Given the description of an element on the screen output the (x, y) to click on. 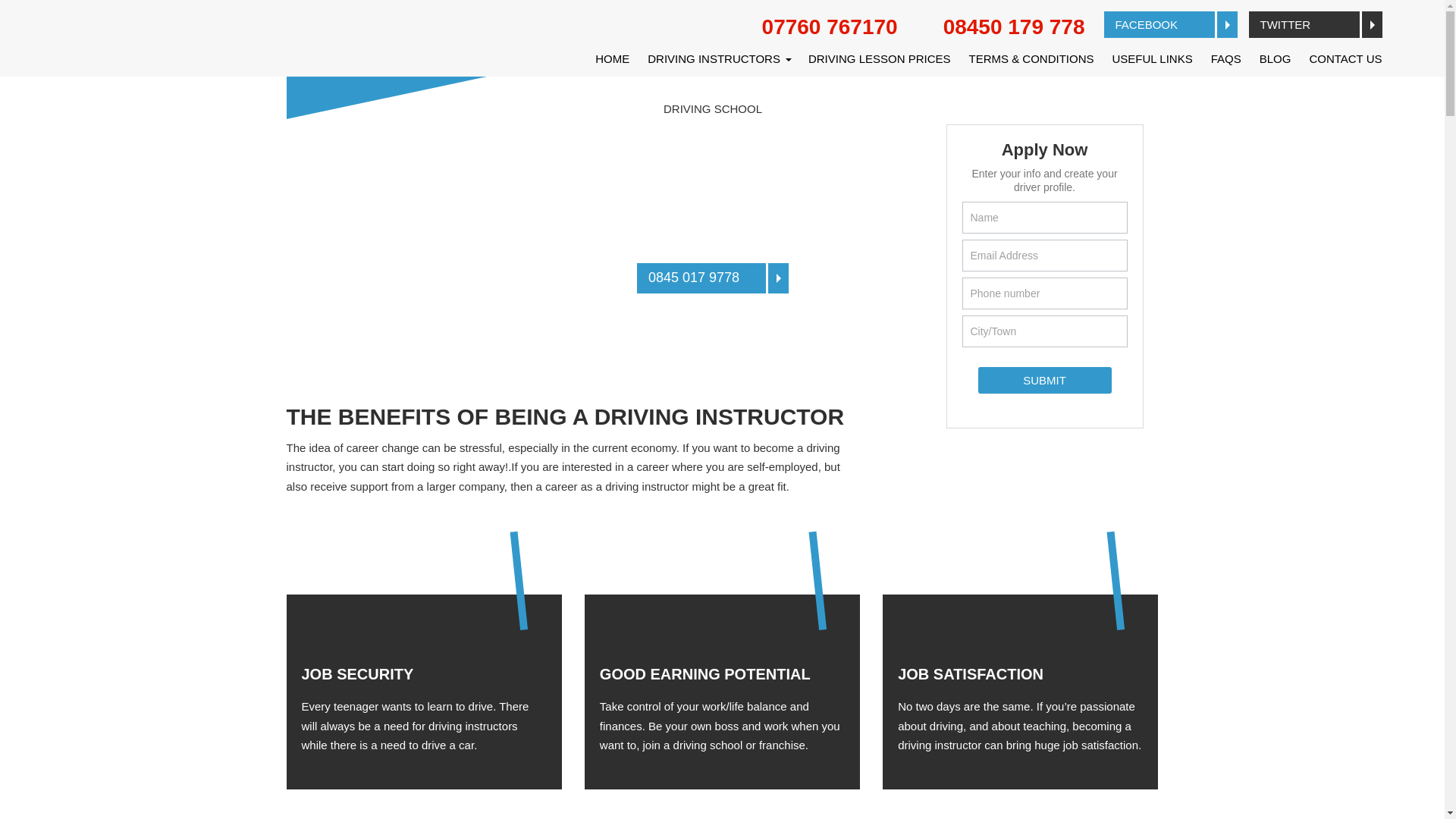
TWITTER (1314, 24)
DRIVING INSTRUCTORS (719, 58)
07760 767170 (815, 27)
FAQS (1226, 58)
FACEBOOK (1170, 24)
Driving Instructor Training (777, 212)
SmartDriveUK (540, 212)
Driving Instructor Training in Essex (746, 218)
USEFUL LINKS (1152, 58)
08450 179 778 (998, 27)
HOME (612, 58)
SUBMIT (1045, 379)
CONTACT US (1340, 58)
Driving Instructor Training in Essex (746, 218)
0845 017 9778 (713, 277)
